Given the description of an element on the screen output the (x, y) to click on. 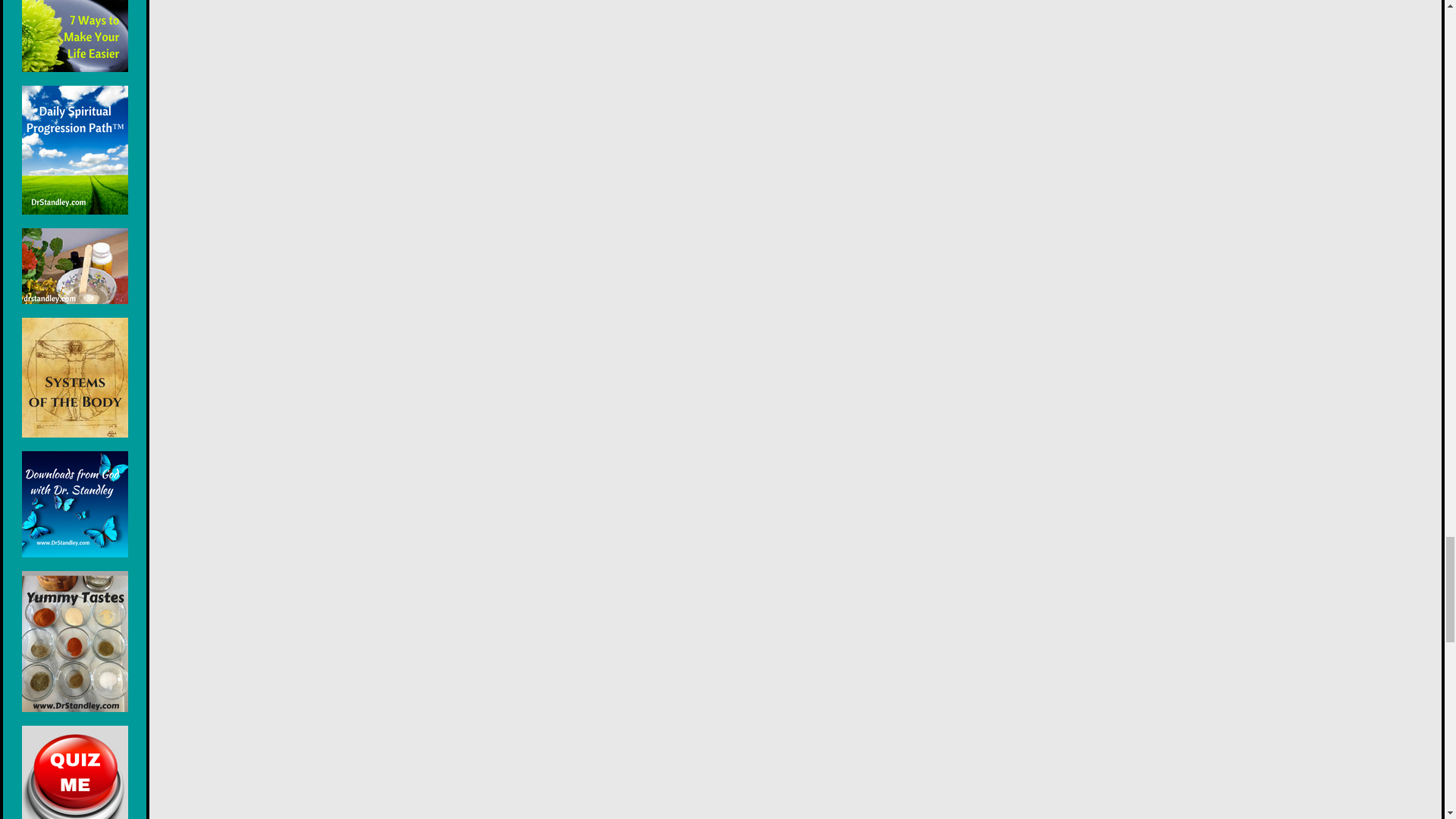
Astrology Quizzes, Health Quizzes, Games, Hangman and more (74, 772)
